Given the description of an element on the screen output the (x, y) to click on. 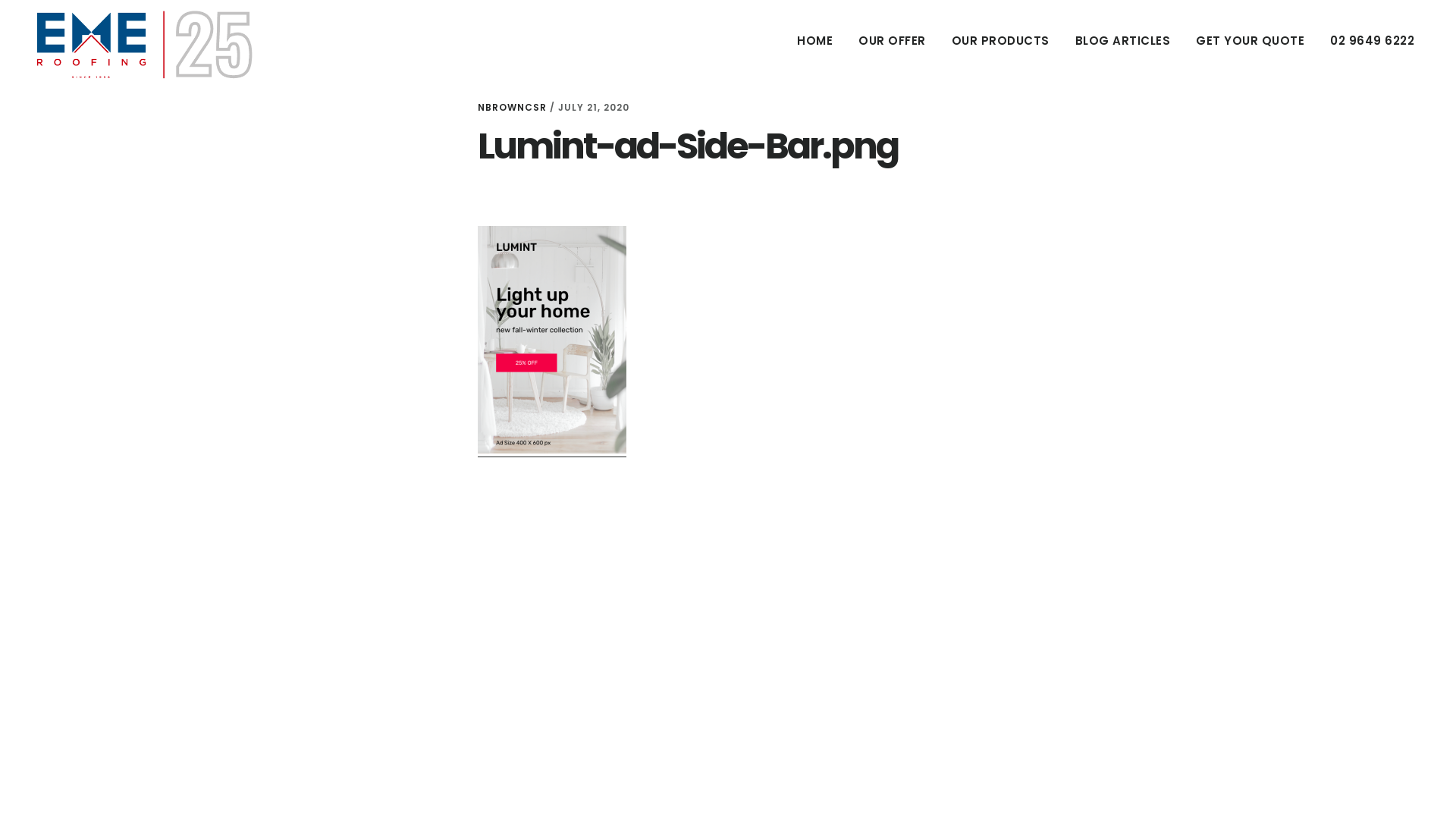
EME ROOFING - SINCE 1998 Element type: text (143, 44)
HOME Element type: text (814, 40)
OUR PRODUCTS Element type: text (1000, 40)
02 9649 6222 Element type: text (1371, 40)
BLOG ARTICLES Element type: text (1122, 40)
NBROWNCSR Element type: text (511, 106)
Skip to main content Element type: text (0, 0)
GET YOUR QUOTE Element type: text (1249, 40)
OUR OFFER Element type: text (892, 40)
